Given the description of an element on the screen output the (x, y) to click on. 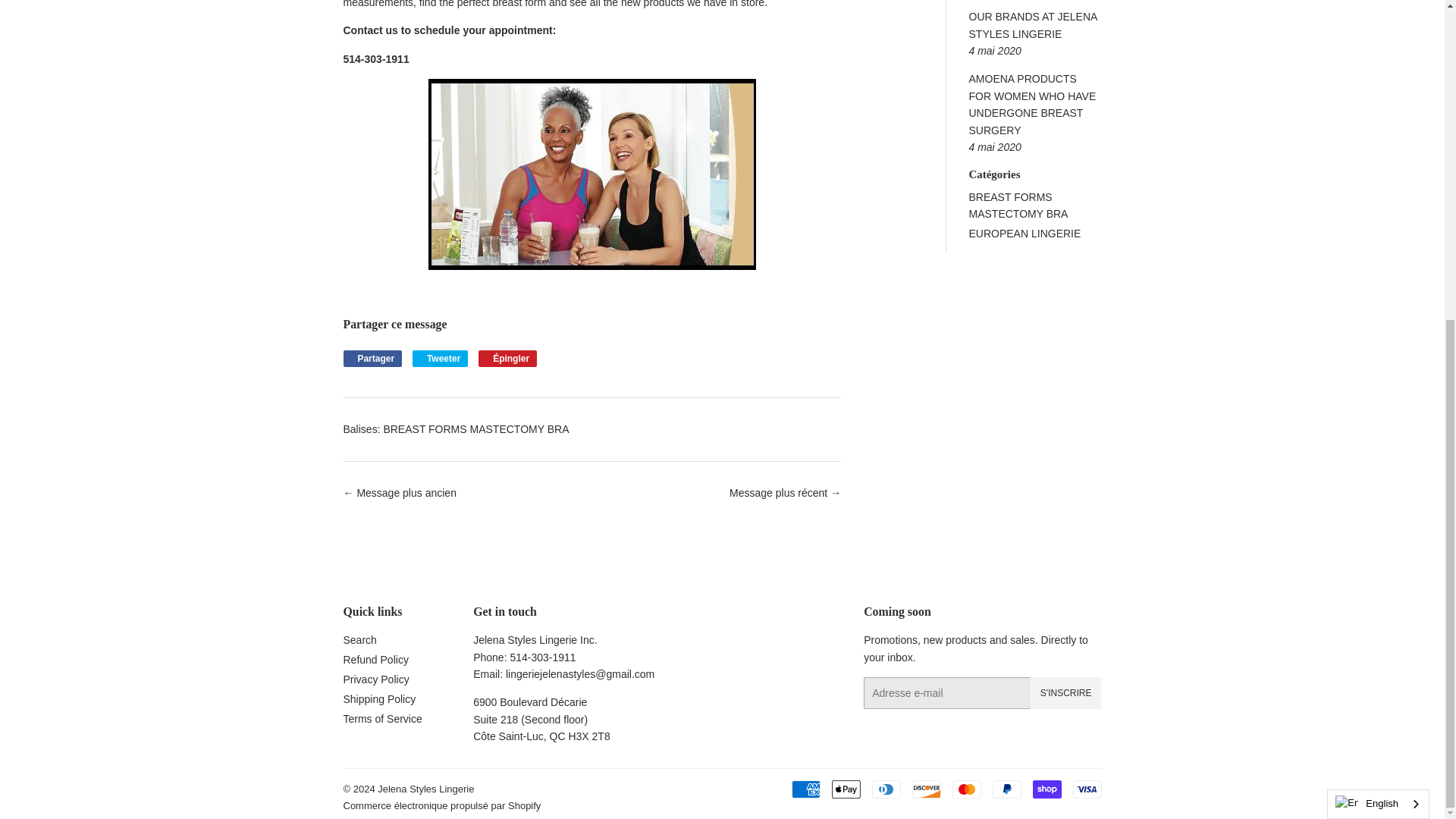
Discover (925, 789)
Show articles tagged EUROPEAN LINGERIE (1025, 233)
Mastercard (966, 789)
Show articles tagged BREAST FORMS MASTECTOMY BRA (1018, 205)
American Express (806, 789)
Visa (1085, 789)
Apple Pay (845, 789)
Diners Club (886, 789)
Tweeter sur Twitter (439, 358)
Partager sur Facebook (371, 358)
